Given the description of an element on the screen output the (x, y) to click on. 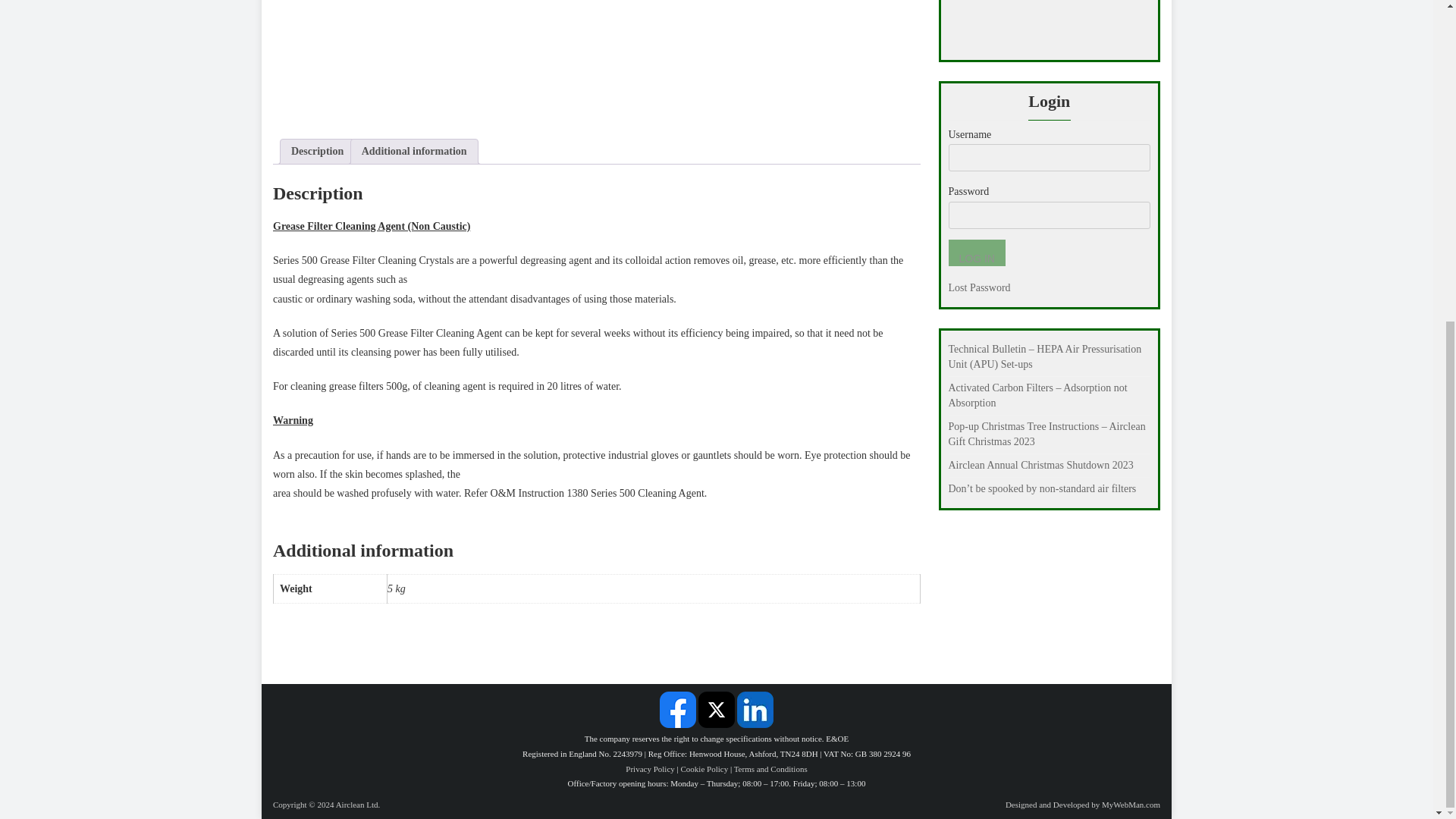
Log In (975, 252)
